Given the description of an element on the screen output the (x, y) to click on. 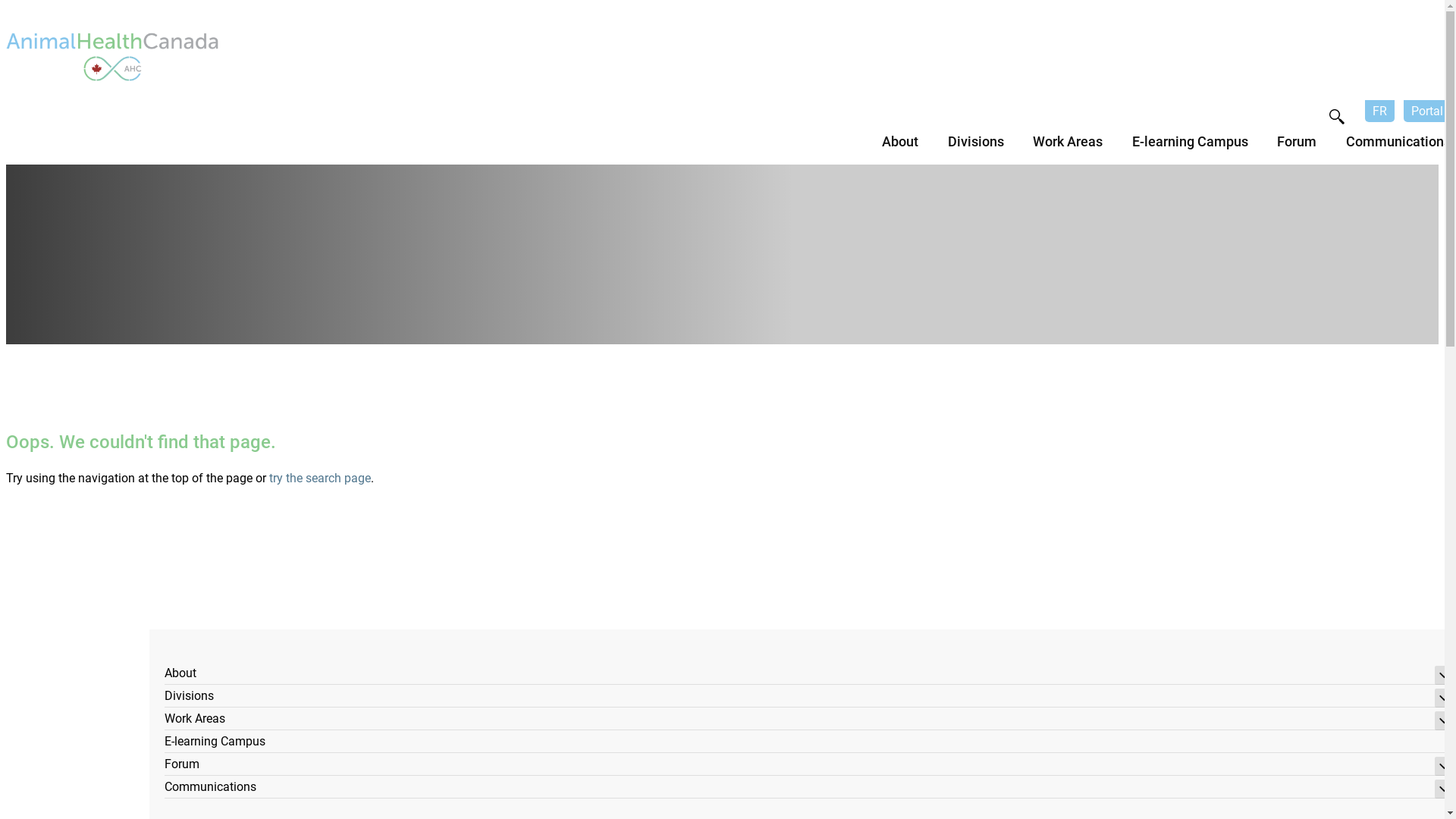
FR Element type: text (1379, 111)
About Element type: text (808, 674)
About Element type: text (899, 148)
Divisions Element type: text (975, 148)
Forum Element type: text (1296, 148)
E-learning Campus Element type: text (808, 743)
Communications Element type: text (1398, 148)
Communications Element type: text (808, 788)
Portal Element type: text (1426, 111)
try the search page Element type: text (319, 477)
search Element type: text (1336, 116)
Work Areas Element type: text (808, 720)
E-learning Campus Element type: text (1190, 148)
Forum Element type: text (808, 765)
Work Areas Element type: text (1067, 148)
Divisions Element type: text (808, 697)
